Given the description of an element on the screen output the (x, y) to click on. 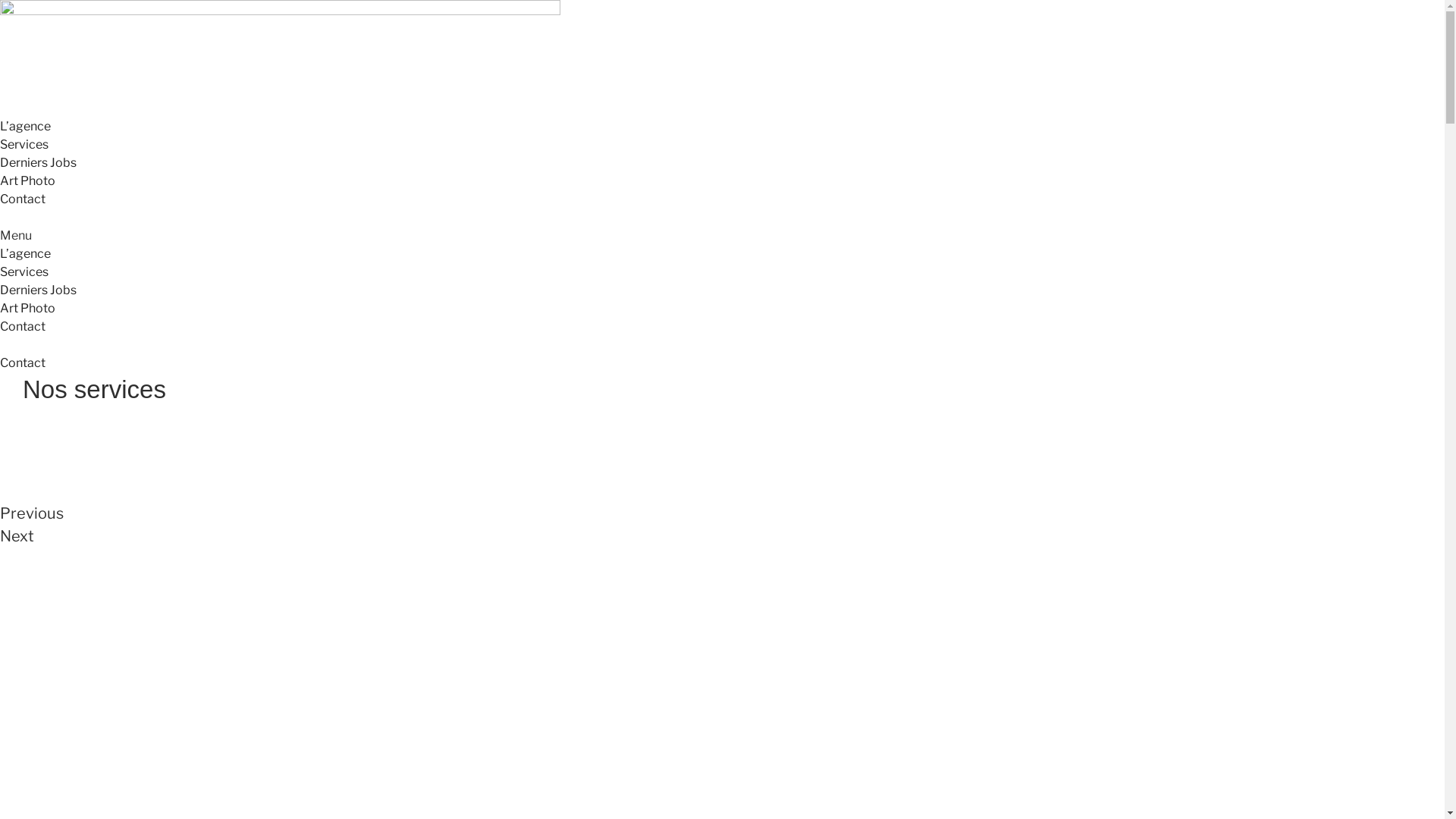
Contact Element type: text (22, 198)
Services Element type: text (24, 144)
Derniers Jobs Element type: text (38, 289)
Derniers Jobs Element type: text (38, 162)
Art Photo Element type: text (27, 308)
Art Photo Element type: text (27, 180)
Services Element type: text (24, 271)
Contact Element type: text (22, 326)
Contact Element type: text (22, 362)
